Given the description of an element on the screen output the (x, y) to click on. 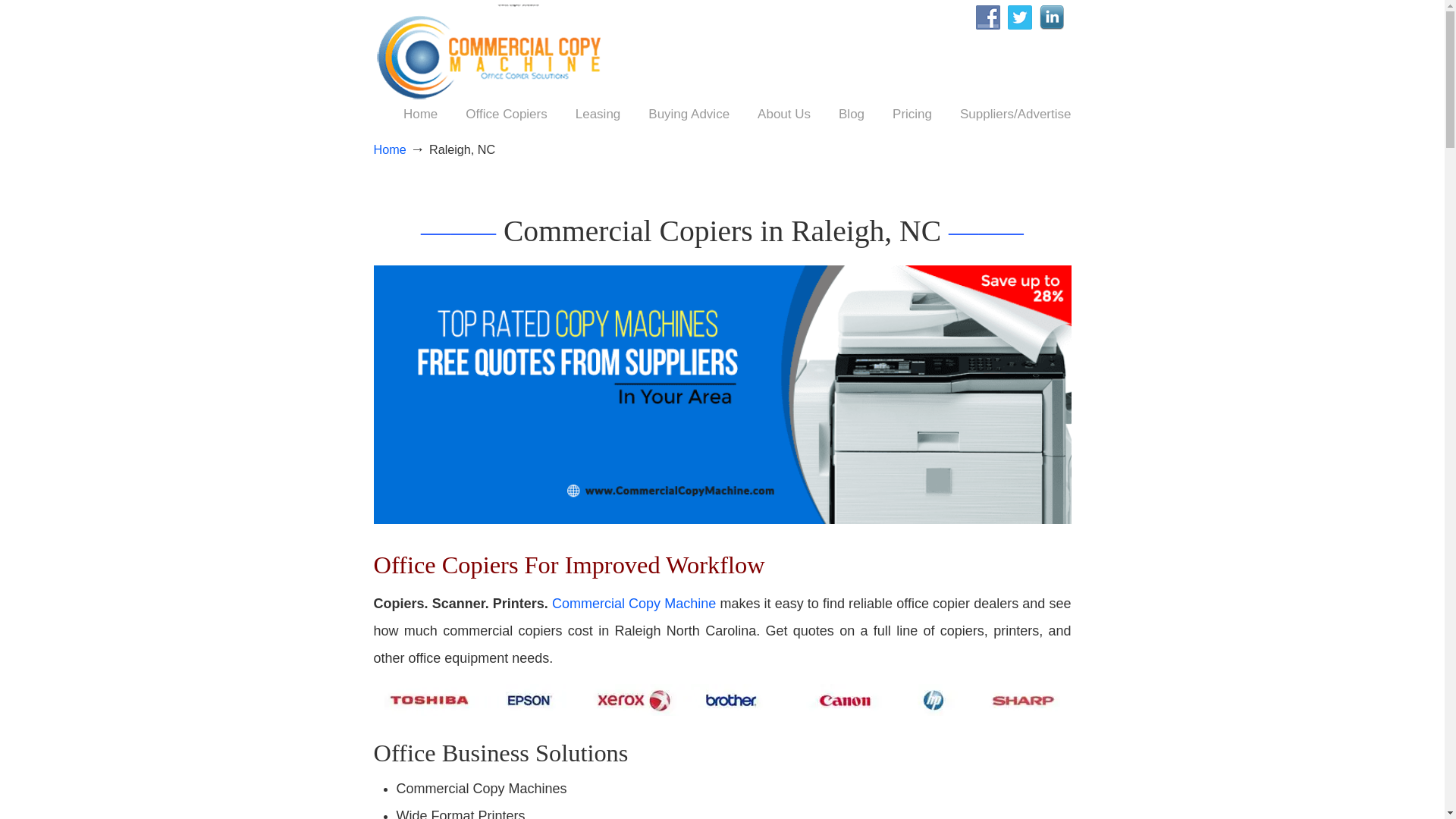
Commercial Copy Machine (496, 53)
Follow Us on Twitter (1018, 16)
Commercial Copy Machine (496, 53)
Home (420, 114)
About Us (783, 114)
Leasing (598, 114)
Home (389, 149)
Buying Advice (688, 114)
Follow Us on Facebook (986, 16)
